Given the description of an element on the screen output the (x, y) to click on. 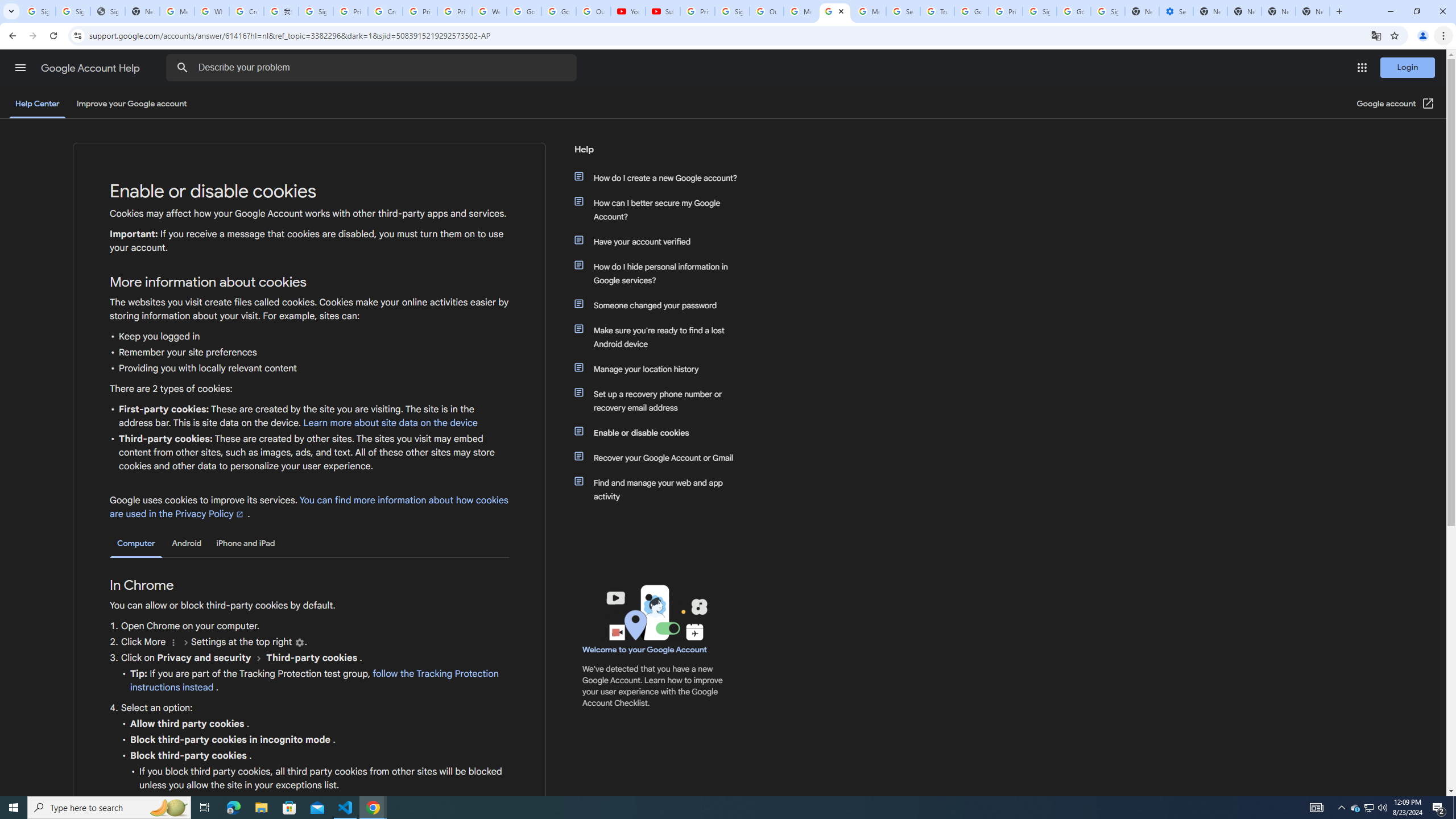
Set up a recovery phone number or recovery email address (661, 400)
Computer (136, 543)
Subscriptions - YouTube (662, 11)
Settings - Performance (1176, 11)
Improve your Google account (131, 103)
Sign in - Google Accounts (73, 11)
Google Cybersecurity Innovations - Google Safety Center (1073, 11)
Create your Google Account (384, 11)
More (173, 642)
